Given the description of an element on the screen output the (x, y) to click on. 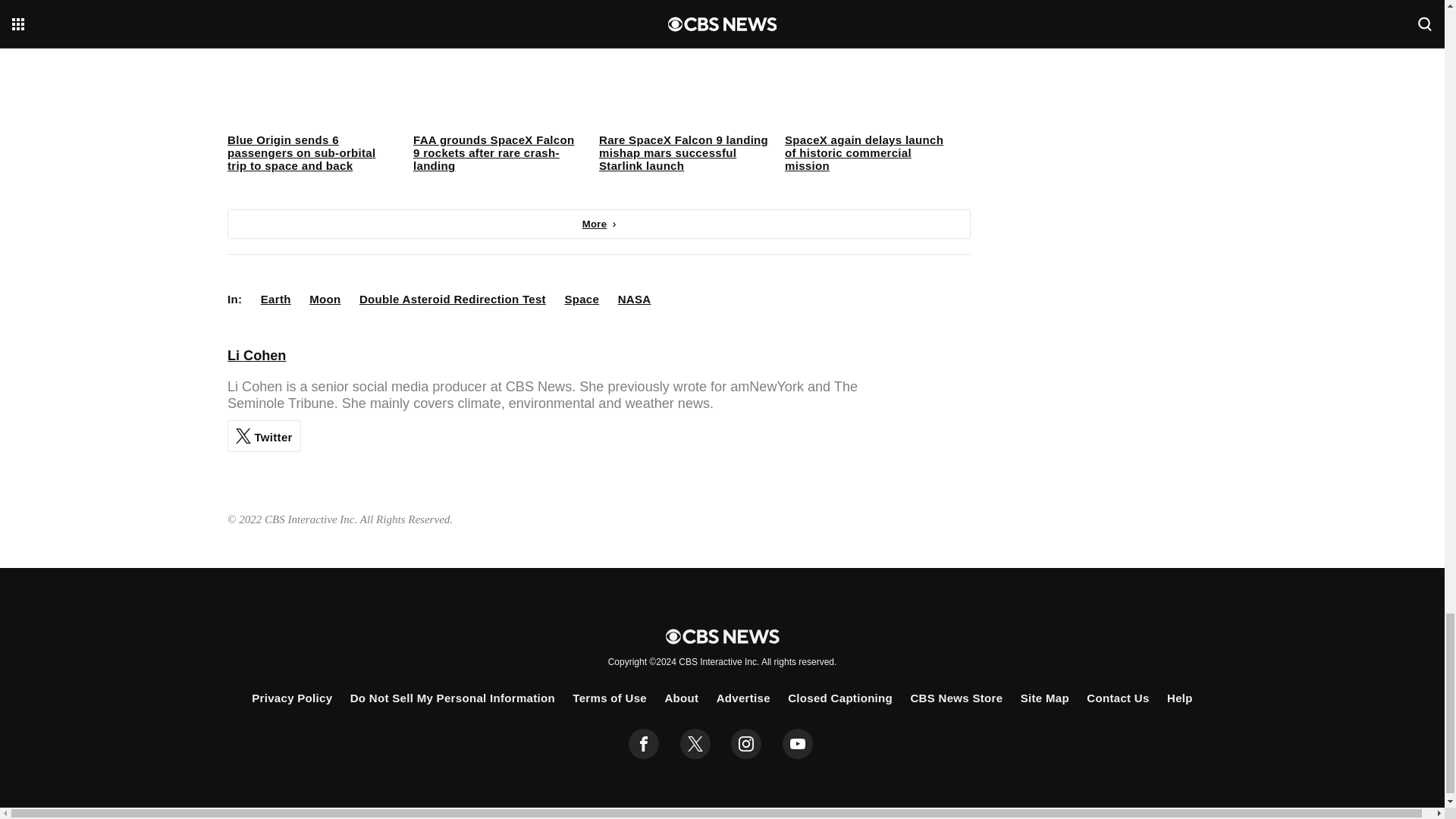
youtube (797, 743)
instagram (745, 743)
twitter (694, 743)
facebook (643, 743)
